Given the description of an element on the screen output the (x, y) to click on. 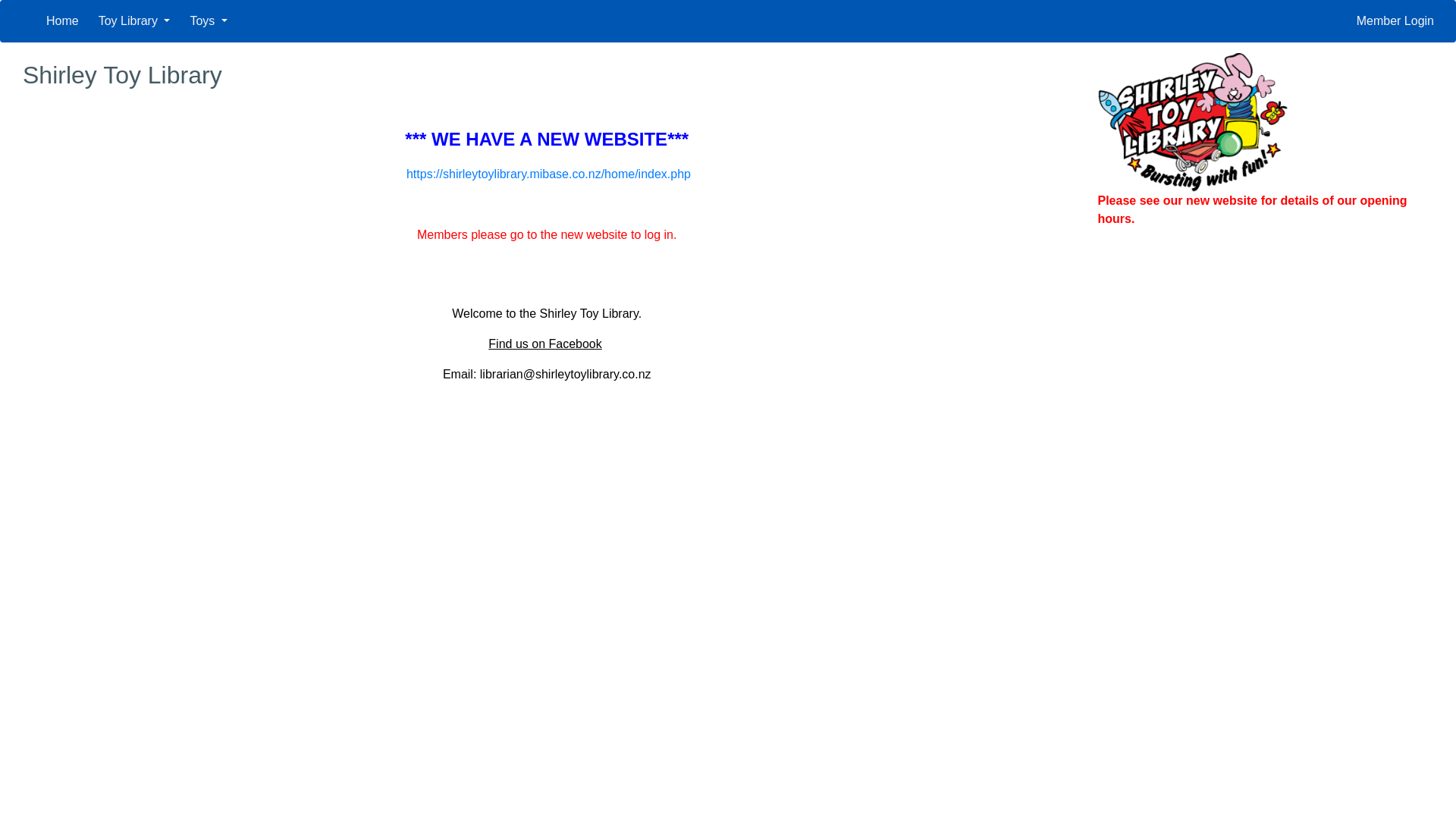
Home Element type: text (62, 21)
Find us on Facebook Element type: text (544, 343)
Member Login Element type: text (1395, 21)
librarian@shirleytoylibrary.co.nz Element type: text (565, 373)
Toy Library Element type: text (134, 21)
https://shirleytoylibrary.mibase.co.nz/home/index.php Element type: text (548, 173)
Toys Element type: text (207, 21)
